Given the description of an element on the screen output the (x, y) to click on. 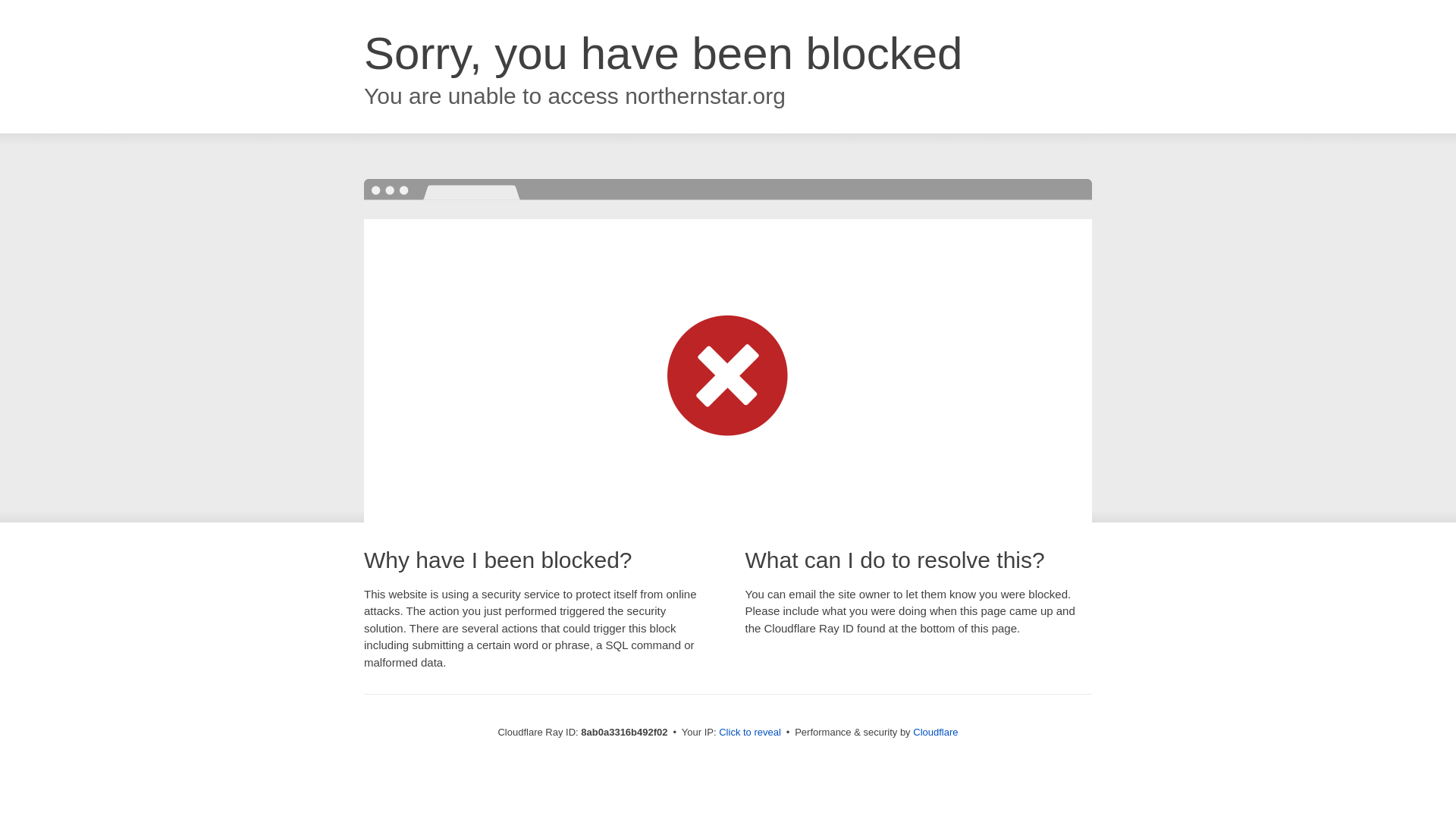
Cloudflare (935, 731)
Click to reveal (749, 732)
